Given the description of an element on the screen output the (x, y) to click on. 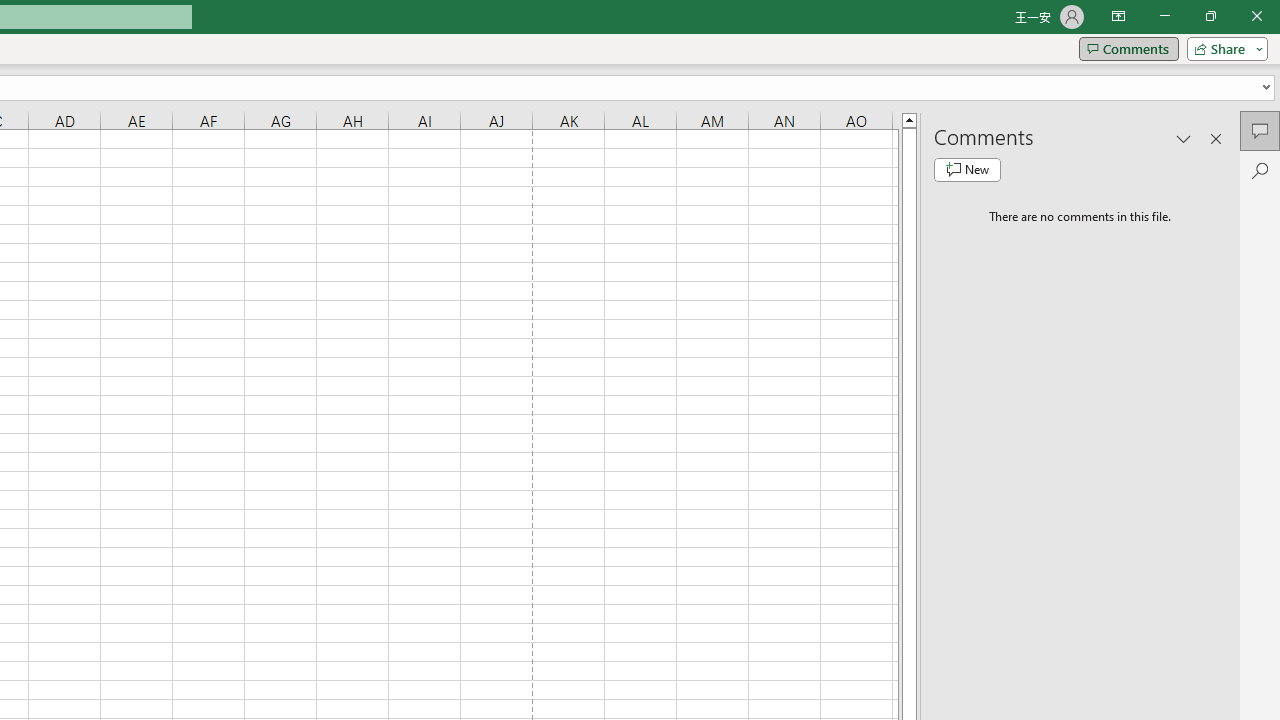
New comment (967, 169)
